Given the description of an element on the screen output the (x, y) to click on. 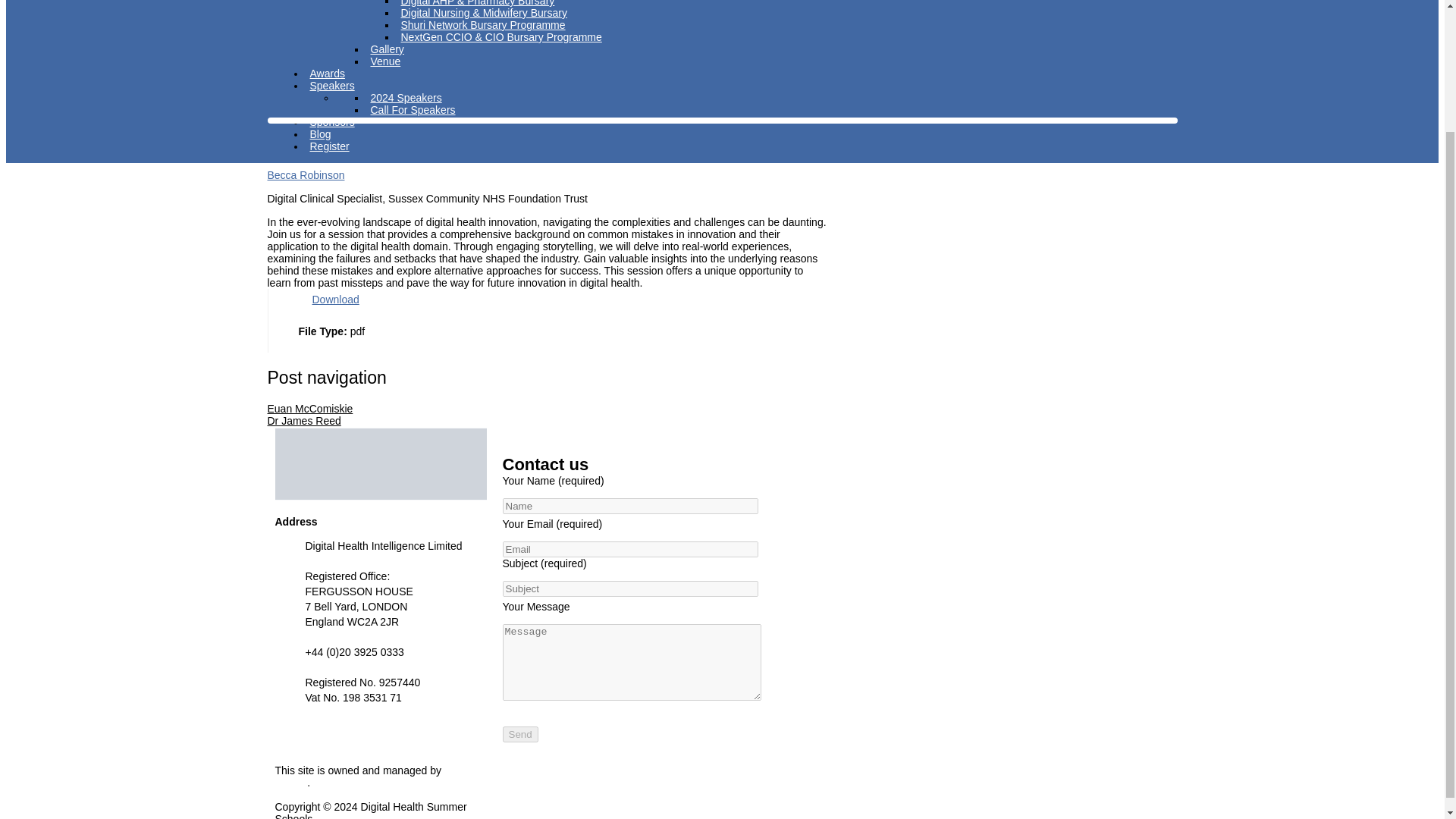
Dr James Reed (303, 420)
Contact us (302, 746)
Privacy policy (310, 734)
About (323, 2)
Cookie policy (309, 721)
Euan McComiskie (309, 408)
Becca Robinson (304, 174)
Download (335, 299)
Sponsors (331, 121)
Send (519, 734)
